Given the description of an element on the screen output the (x, y) to click on. 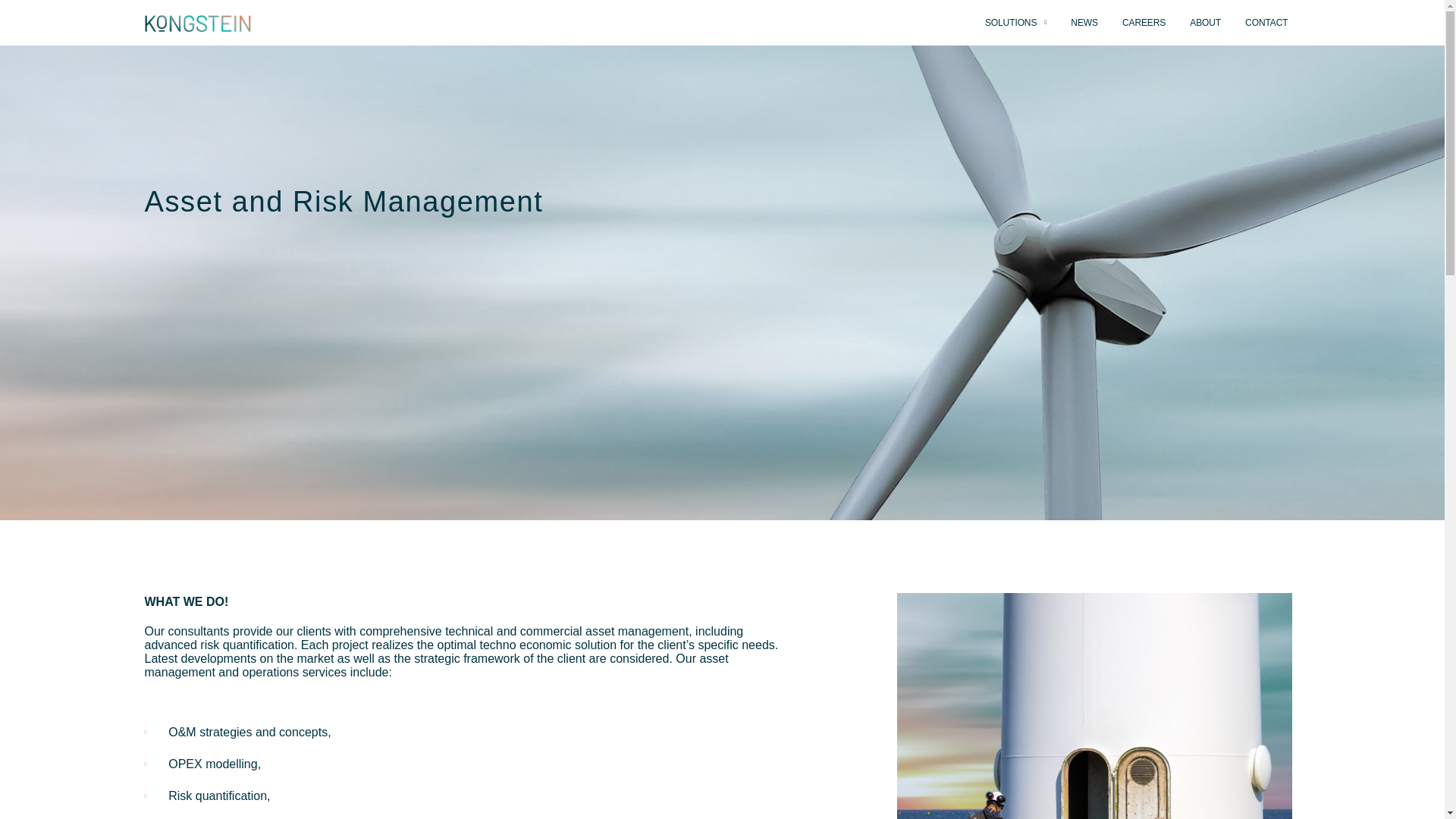
CAREERS (1143, 22)
SOLUTIONS (1015, 22)
ABOUT (1205, 22)
NEWS (1083, 22)
CONTACT (1266, 22)
